Given the description of an element on the screen output the (x, y) to click on. 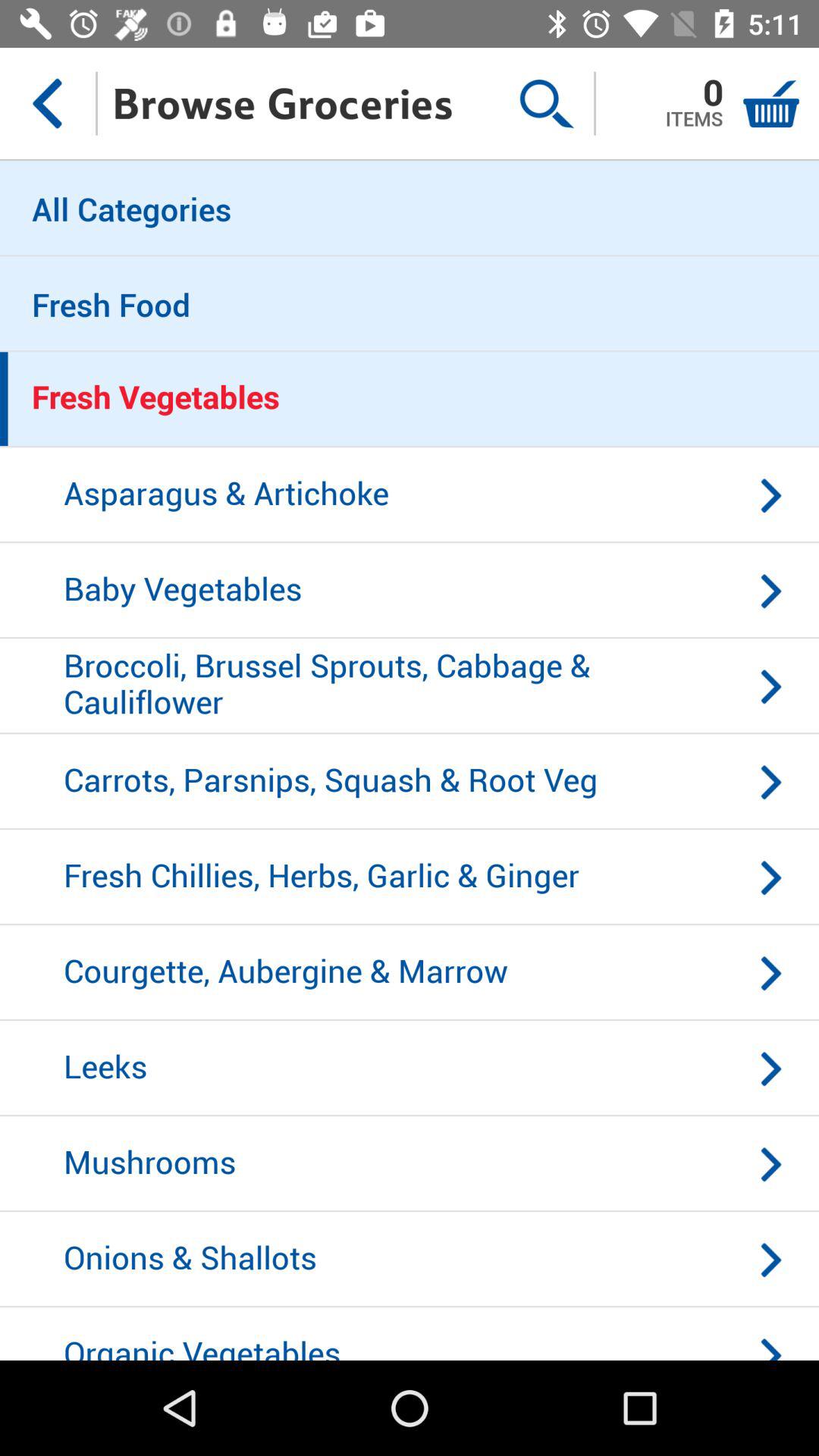
press icon below carrots parsnips squash (409, 877)
